Given the description of an element on the screen output the (x, y) to click on. 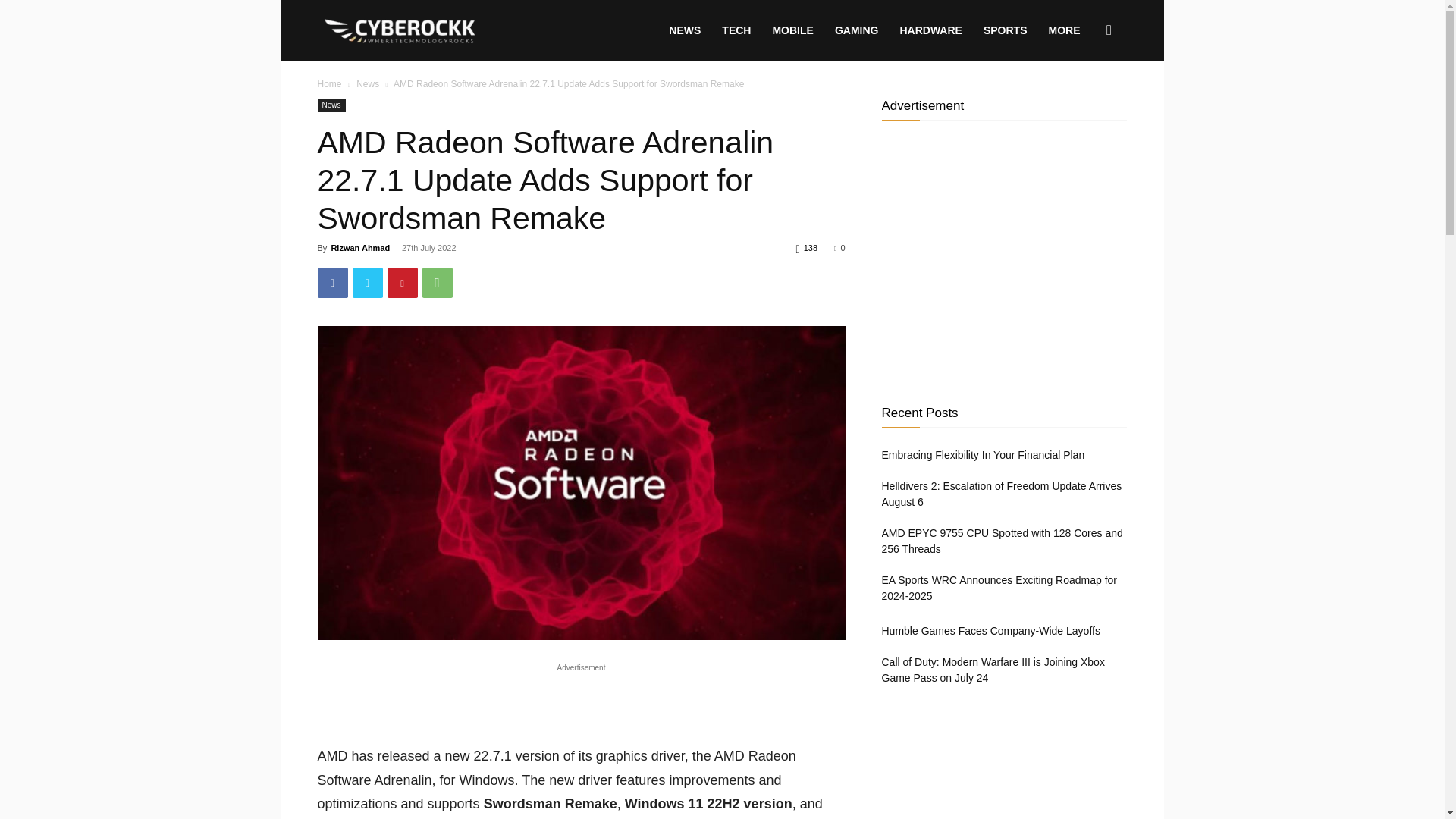
MOBILE (792, 30)
SPORTS (1005, 30)
Search (1085, 102)
HARDWARE (930, 30)
GAMING (856, 30)
Cyberockk (400, 30)
